Given the description of an element on the screen output the (x, y) to click on. 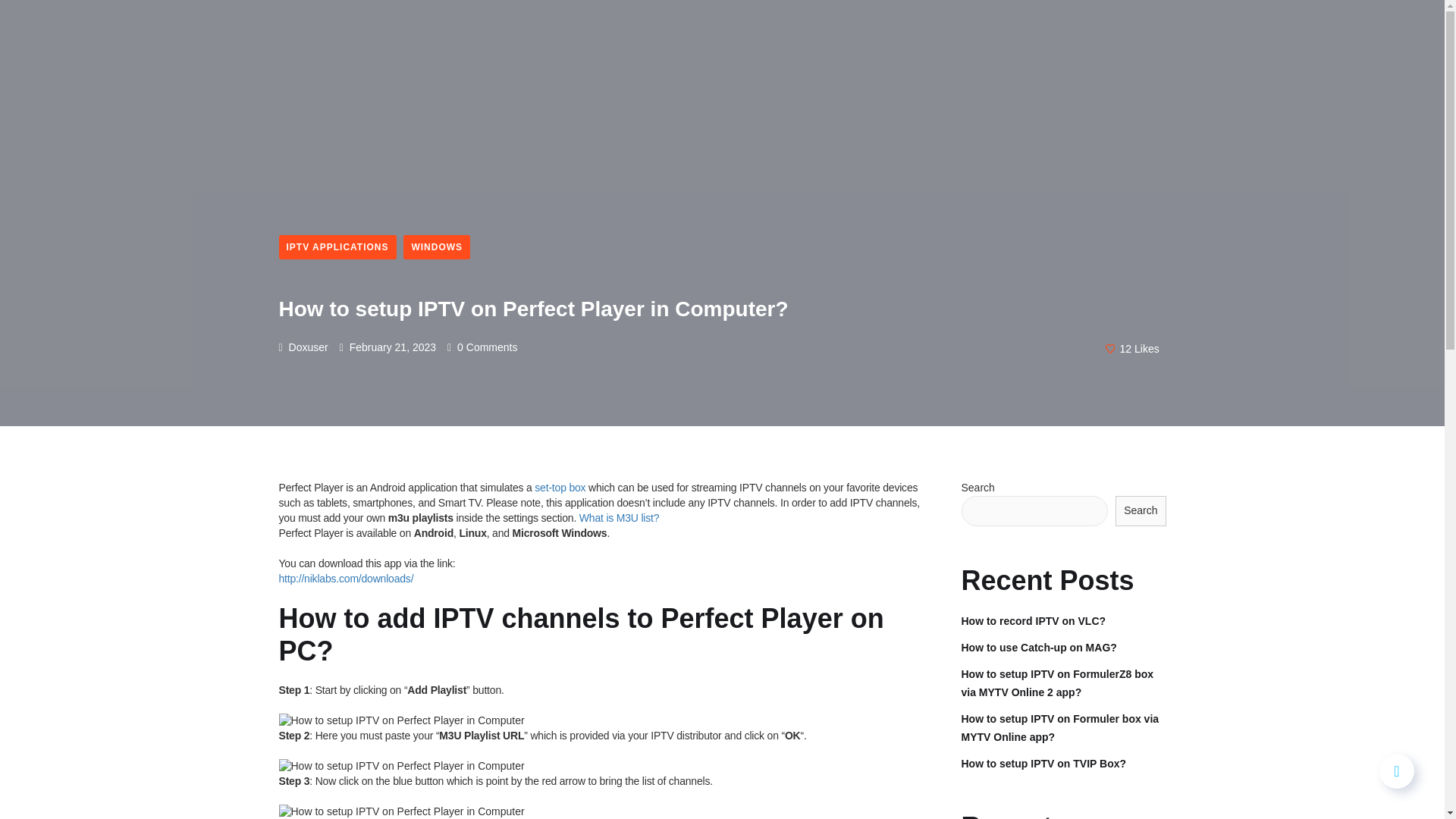
set-top box (559, 487)
Search (1140, 511)
WINDOWS (436, 247)
IPTV APPLICATIONS (337, 247)
0 Comments (481, 346)
Doxuser (304, 346)
What is M3U list? (619, 517)
February 21, 2023 (387, 346)
Like (1132, 347)
